Given the description of an element on the screen output the (x, y) to click on. 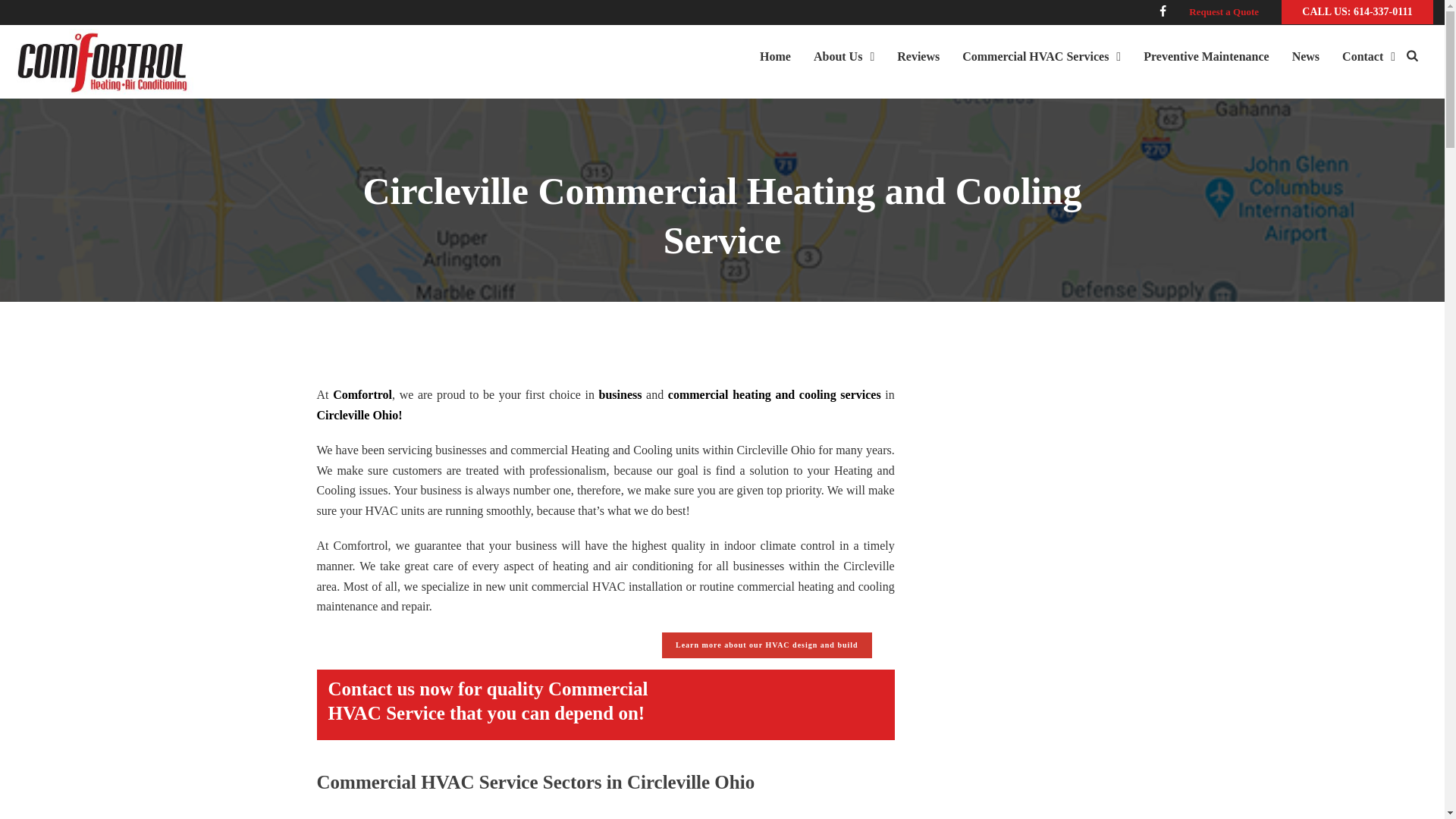
CALL US: 614-337-0111 (1356, 12)
Request a Quote (1223, 12)
Learn more about our HVAC design and build (767, 645)
Reviews (917, 53)
Home (775, 53)
Commercial HVAC Services (1041, 53)
Contact (1368, 53)
News (1305, 53)
News (1305, 53)
Contact (1368, 53)
About Us (843, 53)
Reviews (917, 53)
Preventive Maintenance (1205, 53)
About Us (843, 53)
HVAC Heating and Cooling Repair and Installation (102, 61)
